Given the description of an element on the screen output the (x, y) to click on. 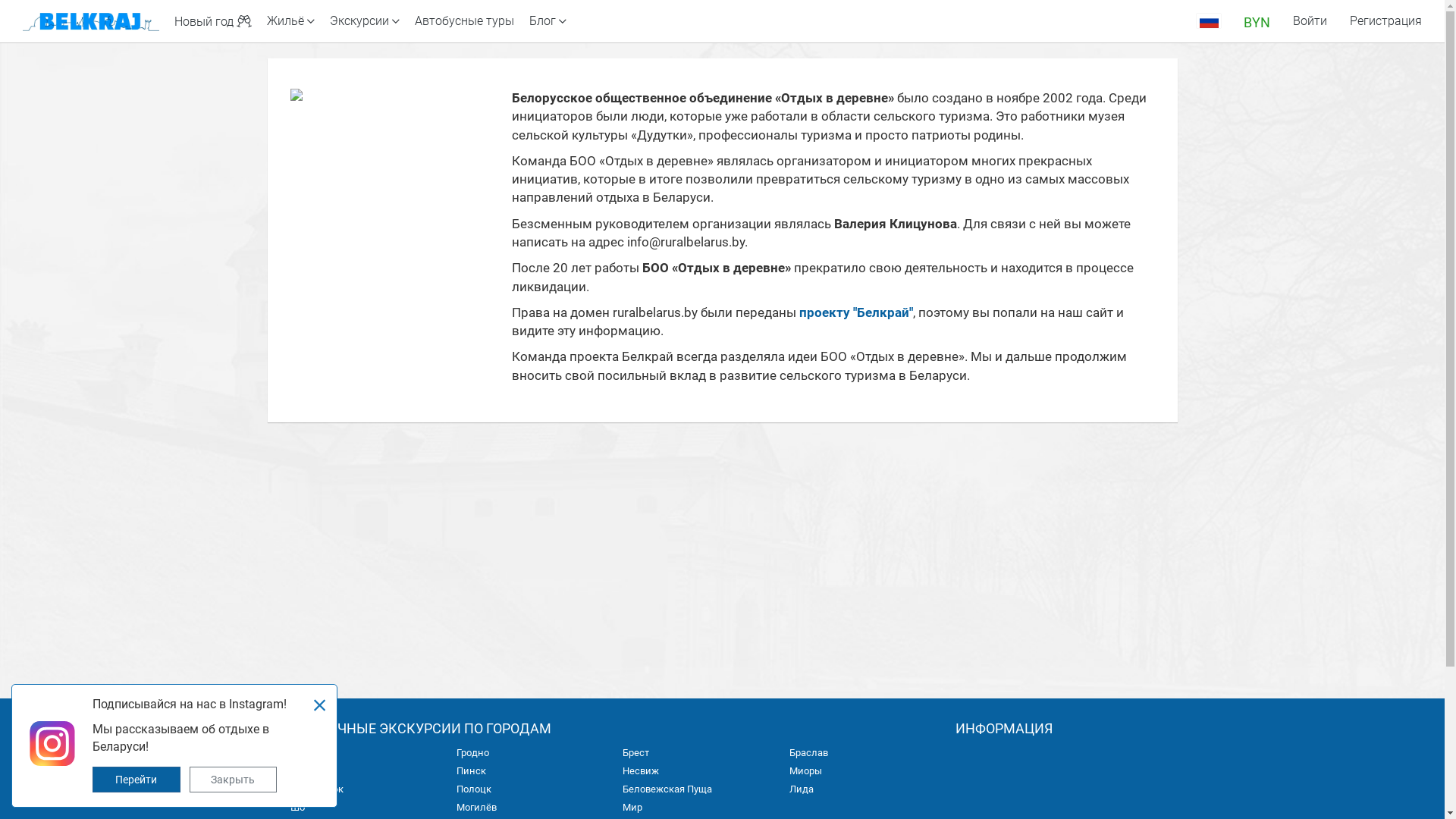
BYN Element type: text (1256, 20)
